Given the description of an element on the screen output the (x, y) to click on. 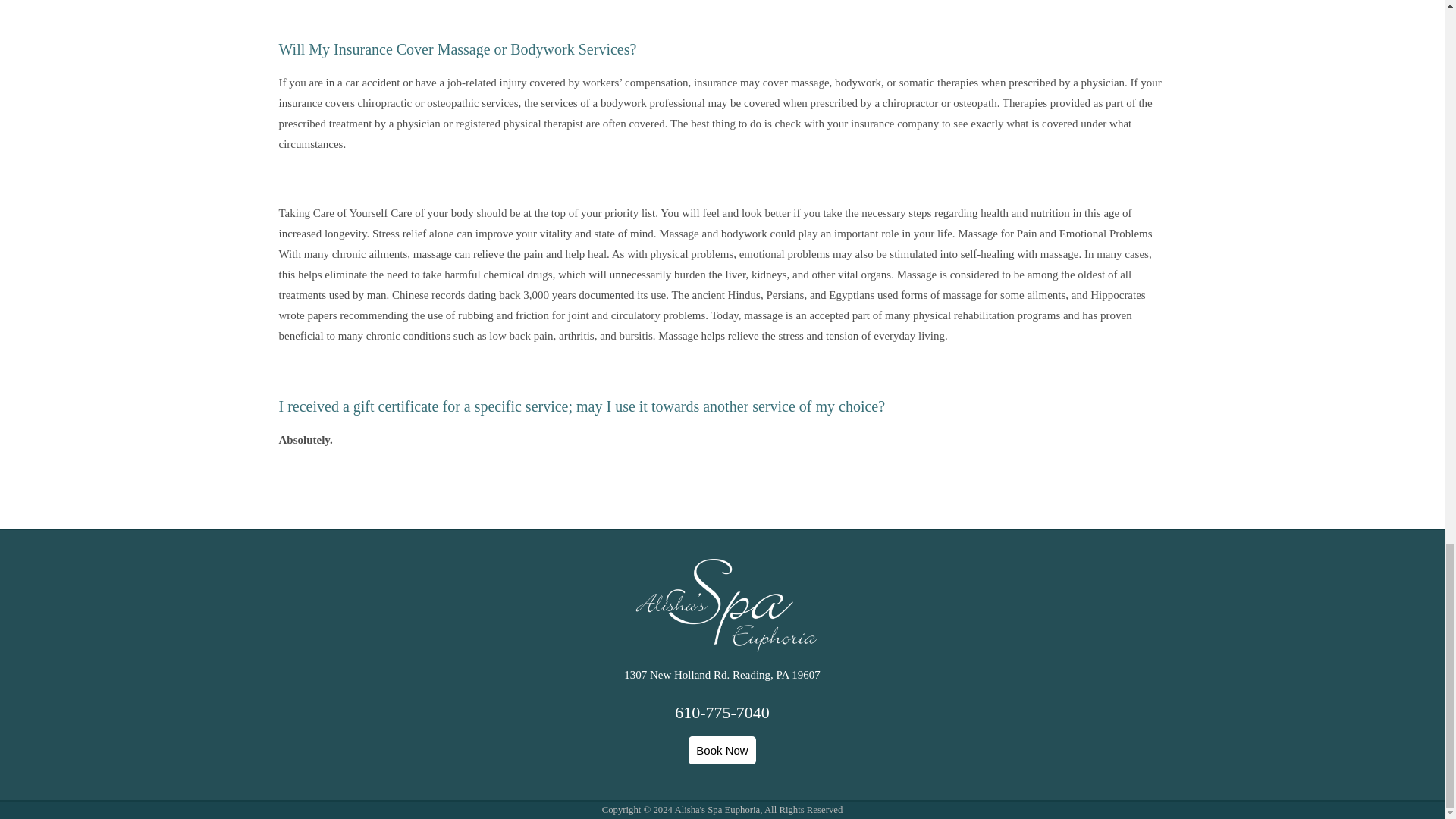
1307 New Holland Rd. Reading, PA 19607 (722, 674)
Book Now (721, 750)
610-775-7040 (722, 711)
